Given the description of an element on the screen output the (x, y) to click on. 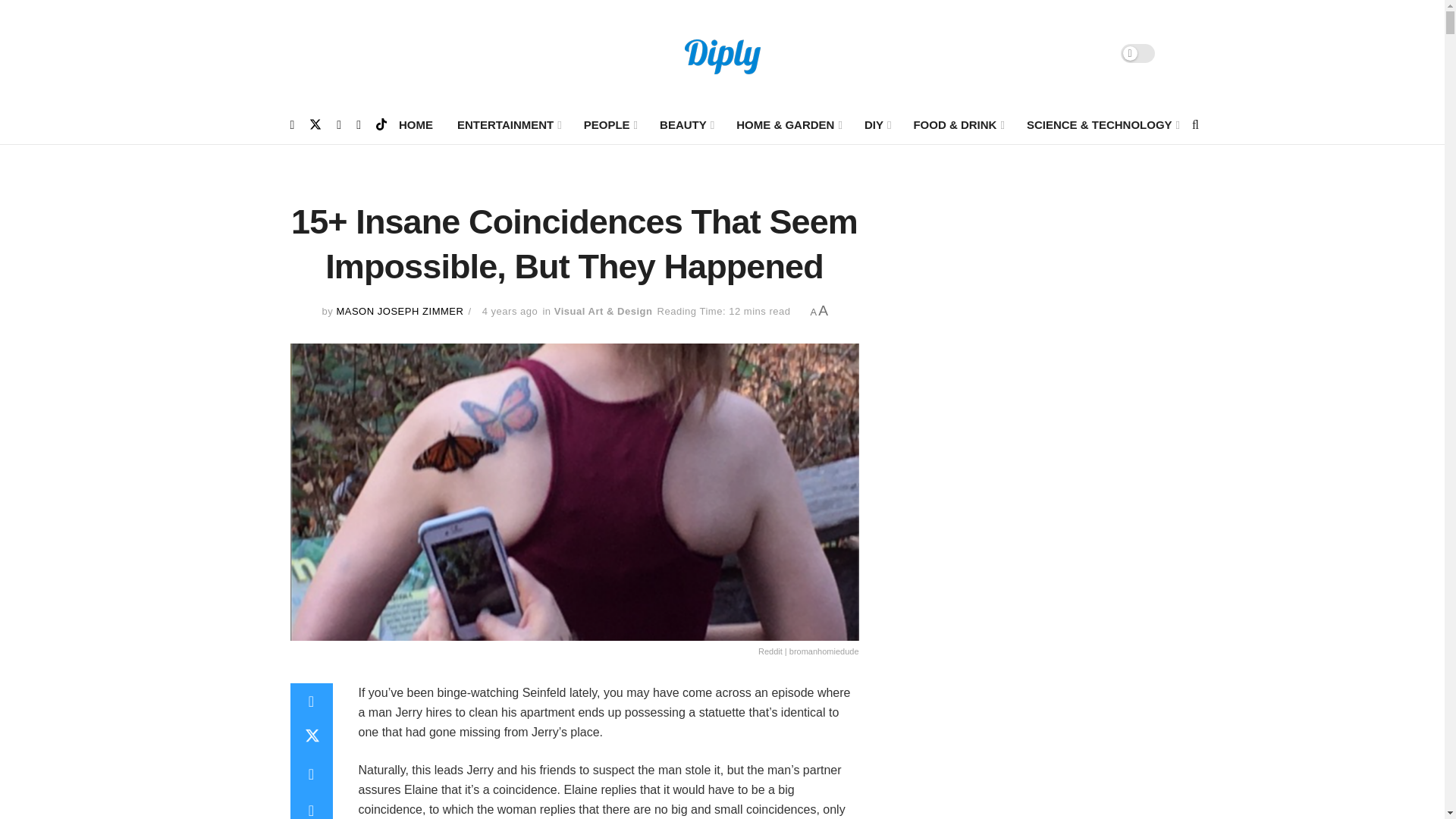
ENTERTAINMENT (508, 125)
HOME (416, 125)
